Given the description of an element on the screen output the (x, y) to click on. 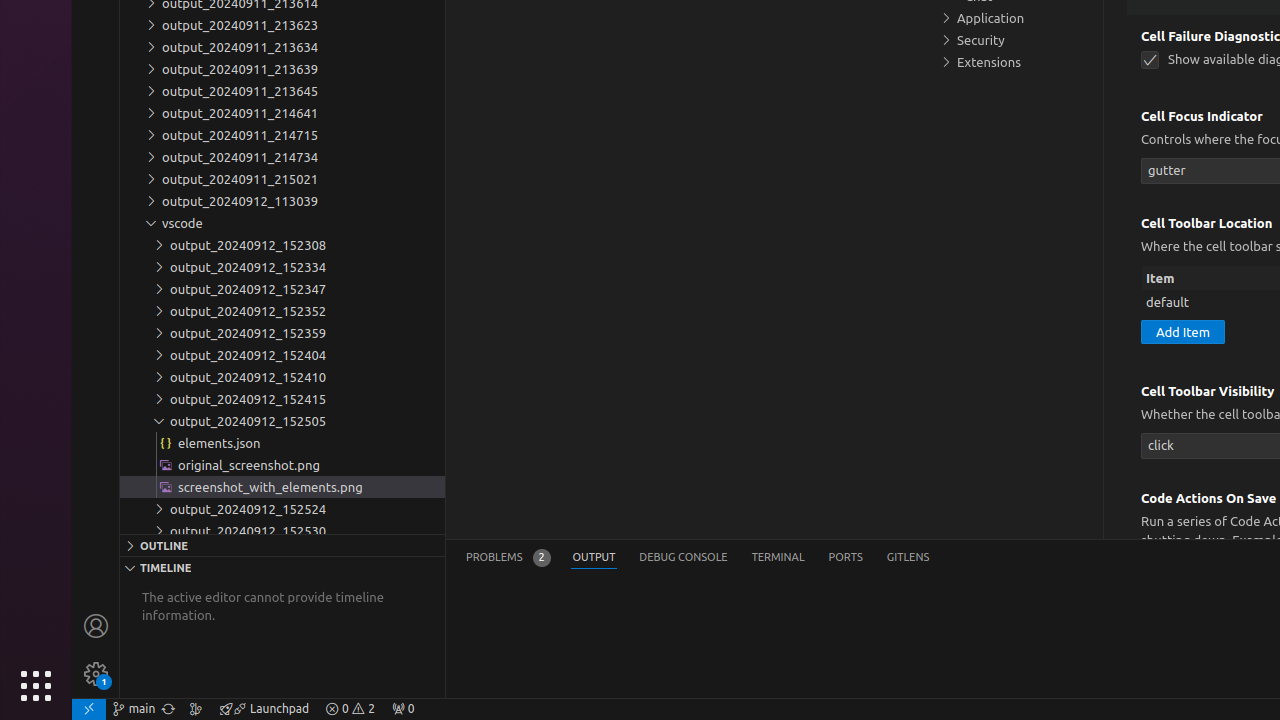
Output (Ctrl+K Ctrl+H) Element type: page-tab (594, 557)
output_20240912_152359 Element type: tree-item (282, 333)
output_20240911_215021 Element type: tree-item (282, 179)
Active View Switcher Element type: page-tab-list (698, 557)
Add Item Element type: push-button (1183, 331)
